Given the description of an element on the screen output the (x, y) to click on. 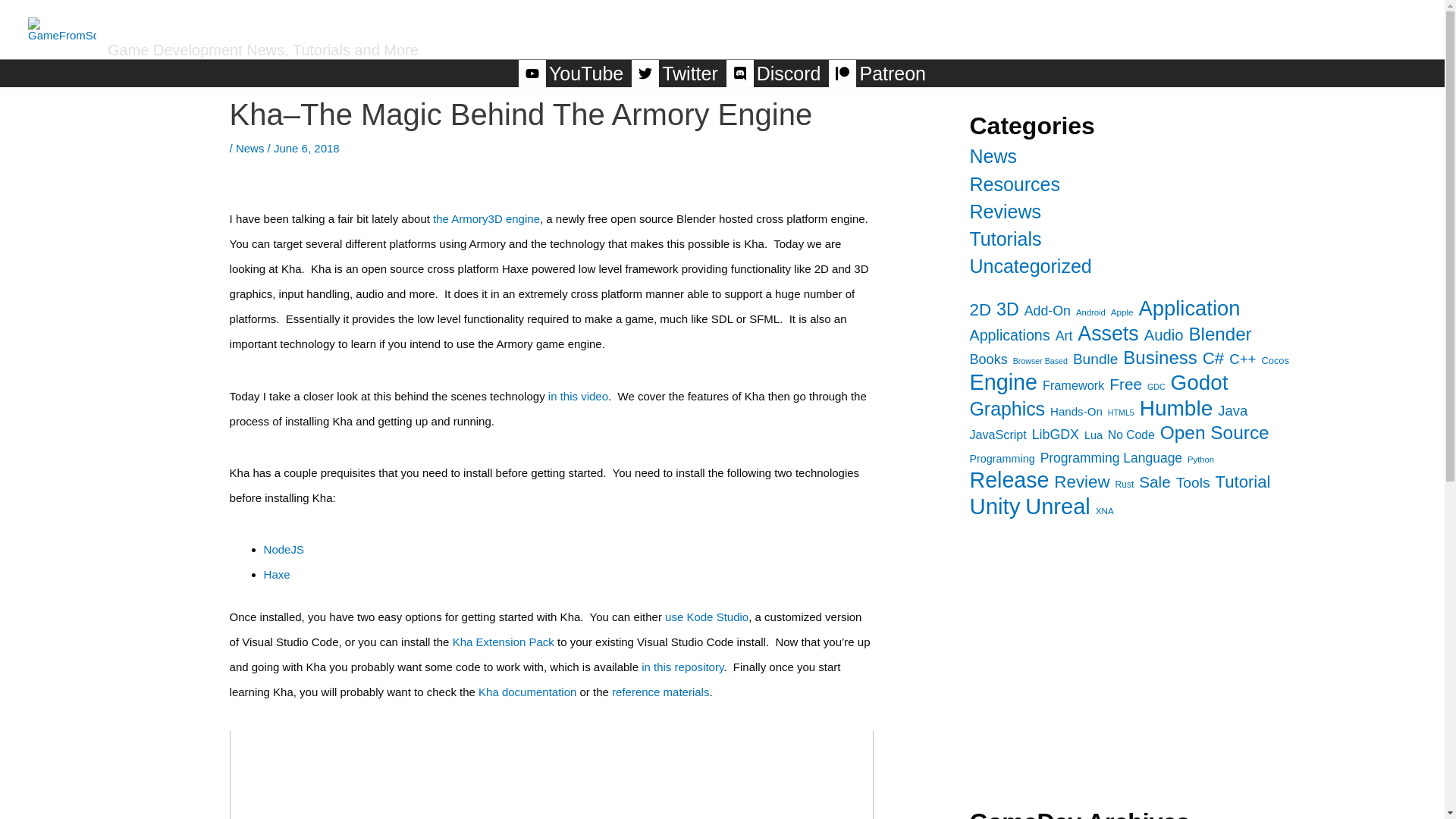
Kha Extension Pack (503, 641)
reference materials (660, 691)
YouTube (572, 72)
the Armory3D engine (486, 218)
Reviews (1146, 24)
News (1067, 24)
in this repository (682, 666)
News (992, 156)
News (249, 147)
in this video (578, 395)
Patreon (877, 72)
Twitter (675, 72)
use Kode Studio (706, 616)
Haxe (276, 574)
GameFromScratch.com (324, 22)
